Given the description of an element on the screen output the (x, y) to click on. 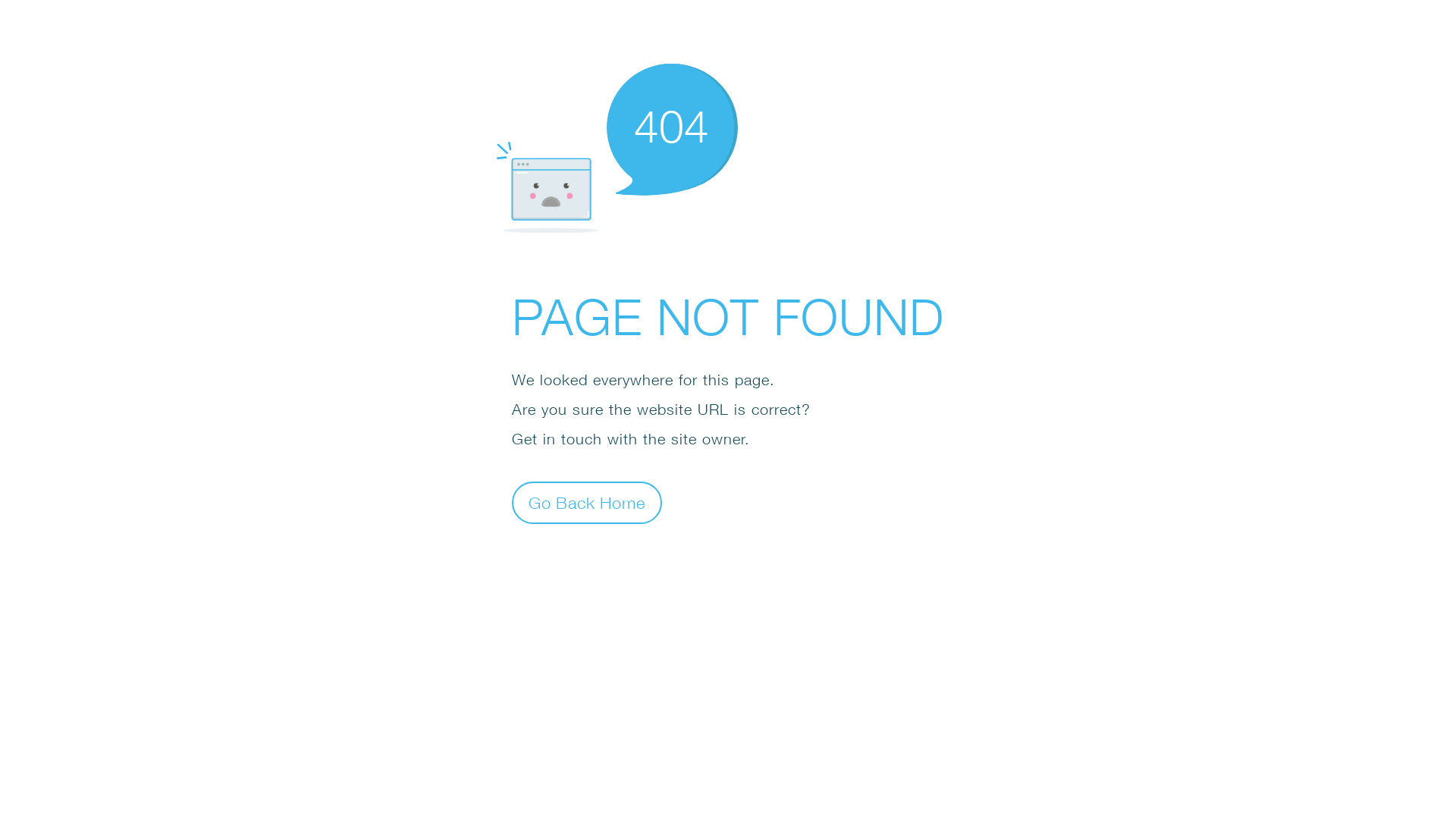
Go Back Home Element type: text (586, 502)
